Given the description of an element on the screen output the (x, y) to click on. 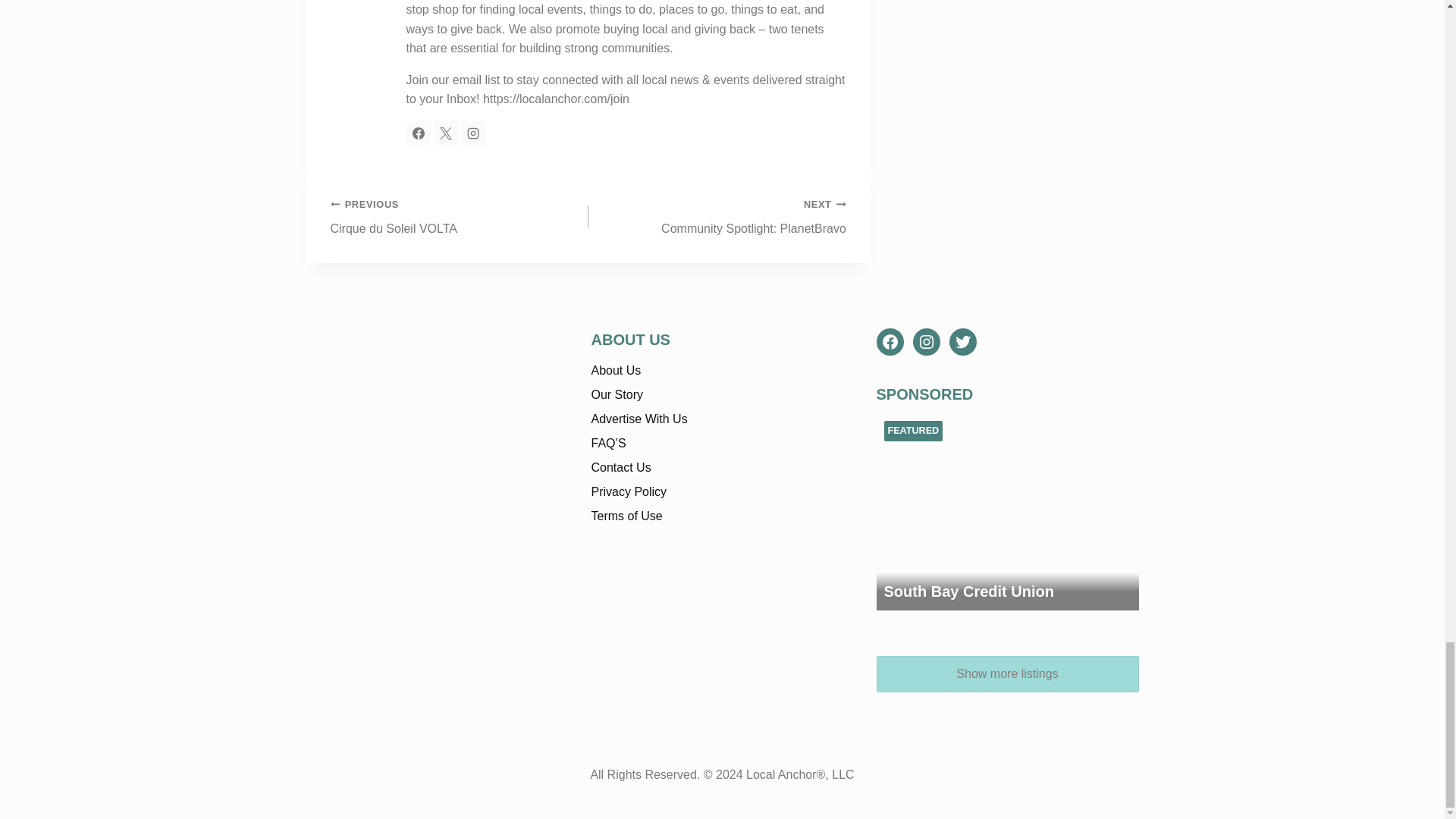
Follow Local Anchor on Facebook (418, 133)
